Given the description of an element on the screen output the (x, y) to click on. 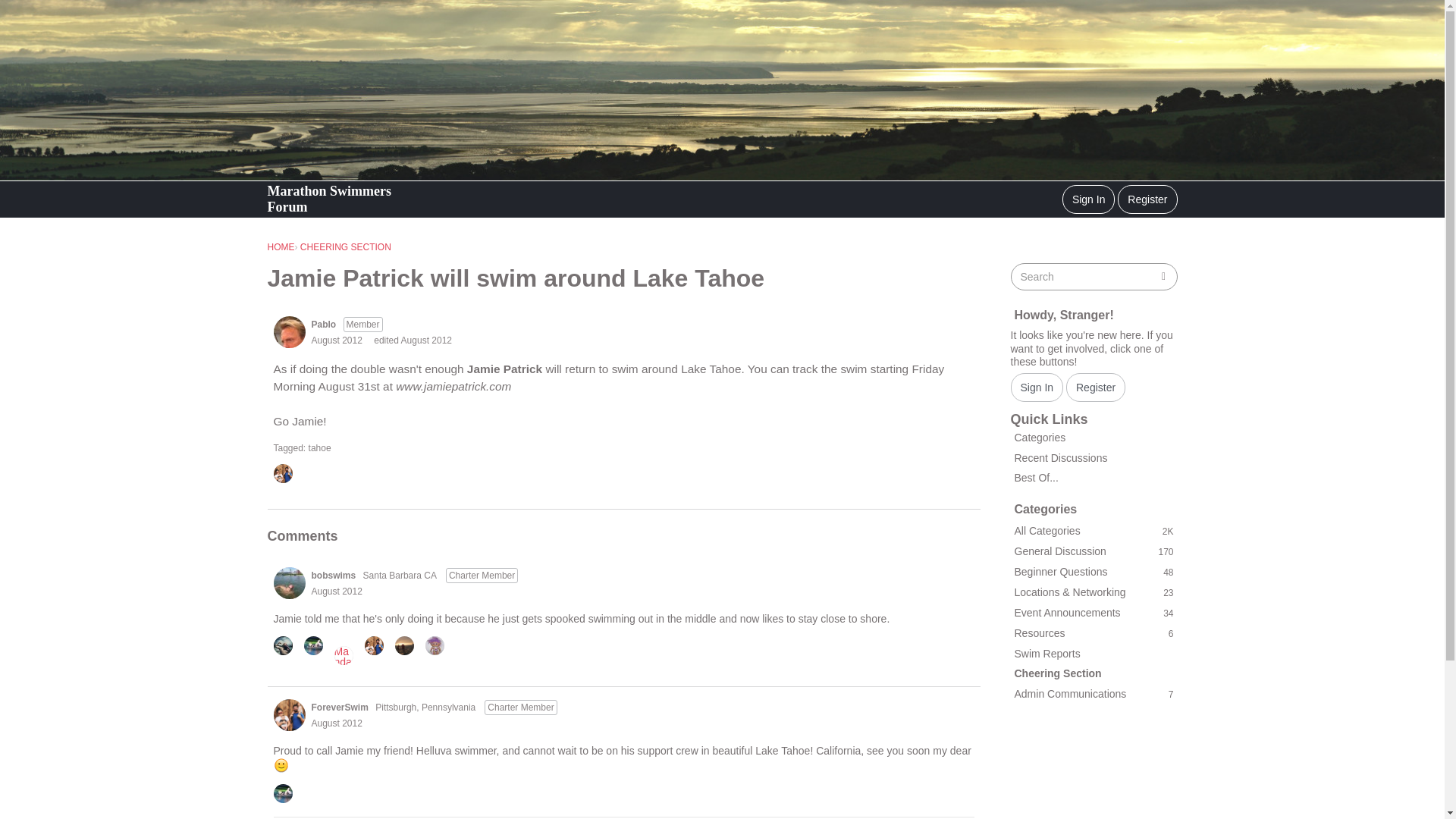
AquaRob (282, 645)
rosemarymint (403, 645)
ForeverSwim - Like on August 28, 2012. (377, 646)
ForeverSwim - Like on August 28, 2012. (287, 474)
August 2012 (336, 339)
Marathon Swimmers Forum (349, 198)
August 27, 2012 8:48AM (336, 339)
August 2012 (336, 591)
ssthomas - Like on August 27, 2012. (316, 646)
Mandai (342, 655)
